Given the description of an element on the screen output the (x, y) to click on. 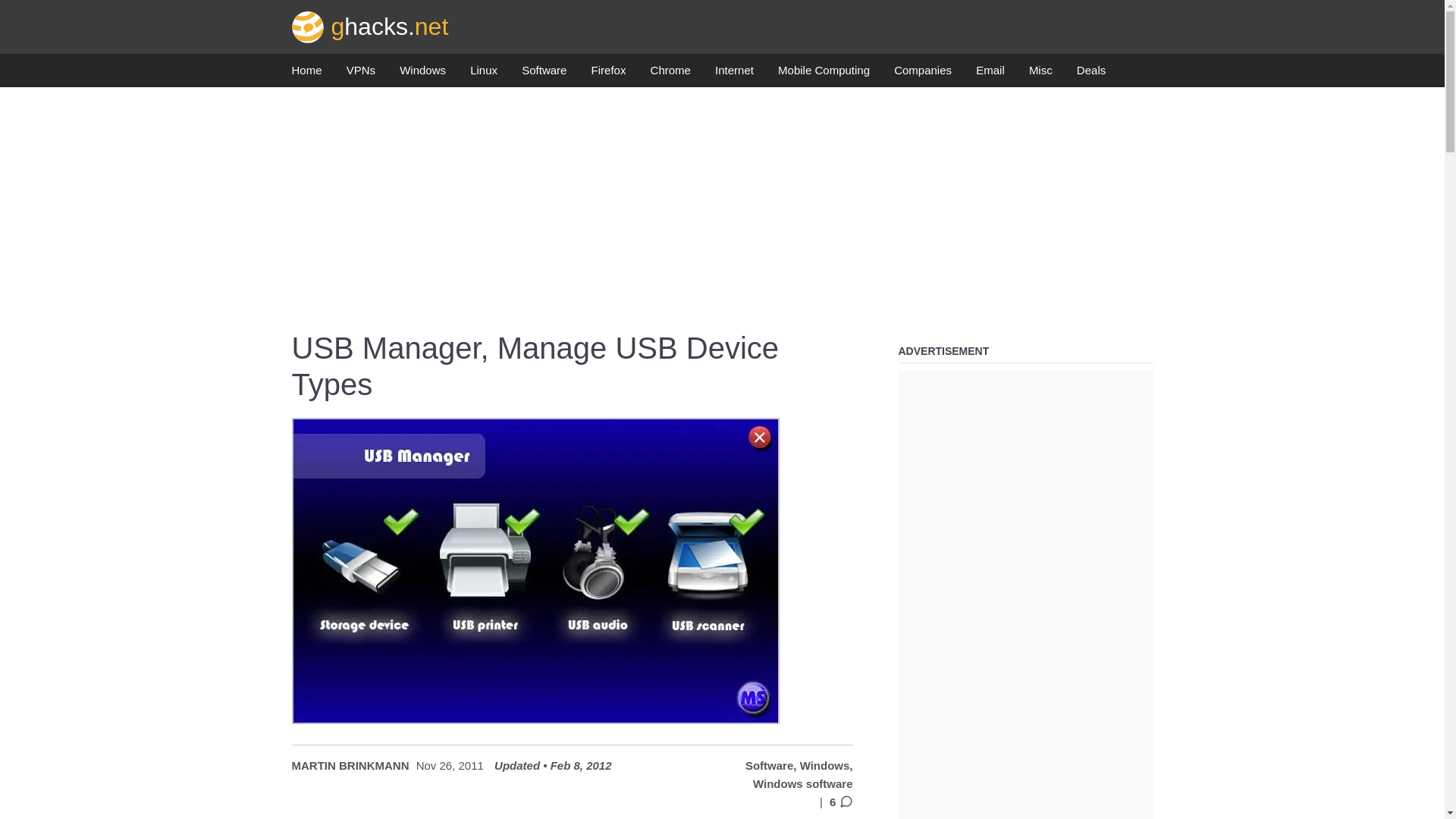
Windows (421, 73)
Firefox (608, 73)
Chrome (670, 73)
VPNs (360, 73)
Mobile Computing (823, 73)
Deals (1091, 73)
Internet (734, 73)
ghacks.net (369, 26)
Home (306, 73)
Email (989, 73)
Companies (922, 73)
Software (543, 73)
Misc (1040, 73)
Linux (483, 73)
